Given the description of an element on the screen output the (x, y) to click on. 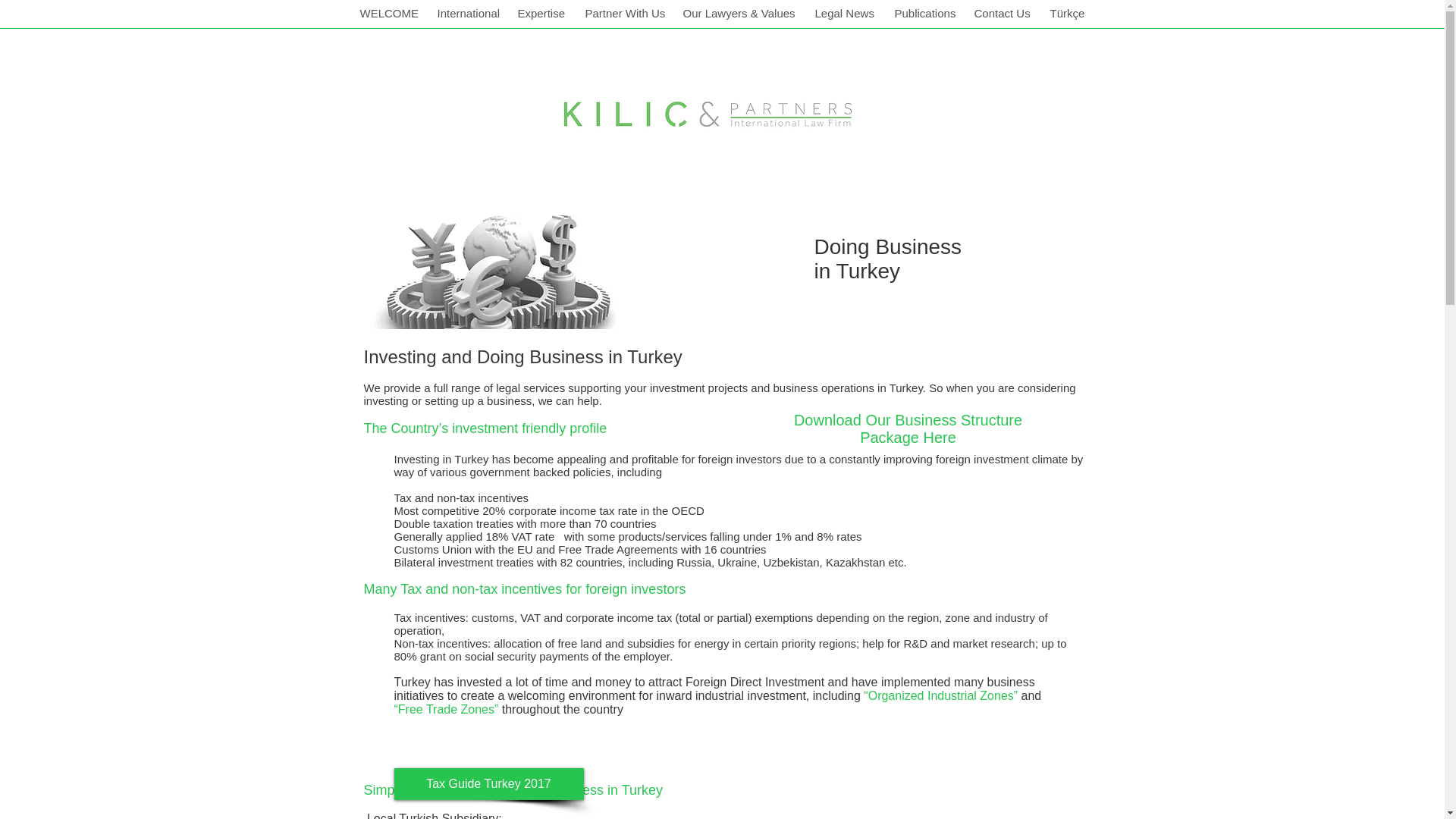
Tax Guide Turkey 2017 (488, 784)
Expertise (541, 13)
Legal News (845, 13)
Partner With Us (625, 13)
International Law Firm Istanbul Turkey (709, 112)
Contact Us (1002, 13)
Download Our Business Structure Package Here (907, 428)
WELCOME (389, 13)
Publications (925, 13)
International (468, 13)
